Given the description of an element on the screen output the (x, y) to click on. 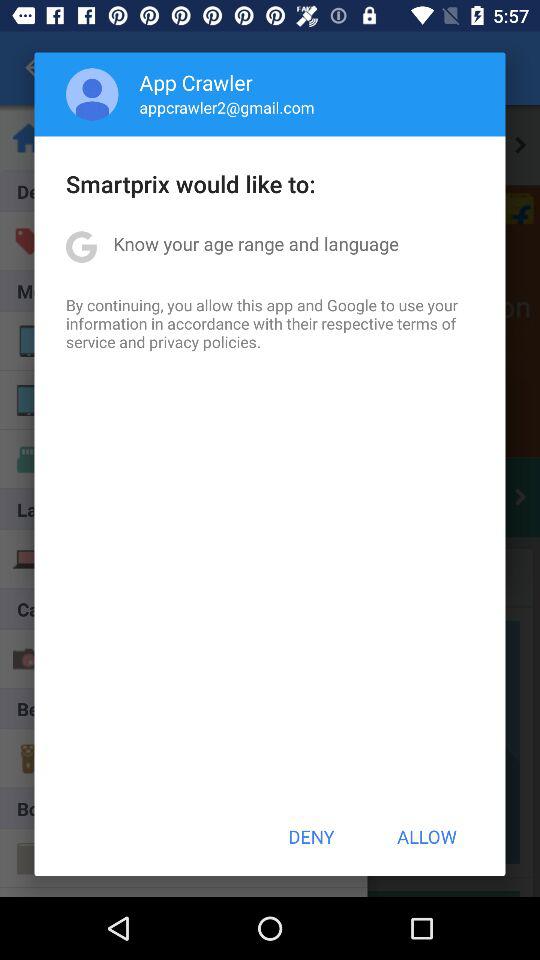
select the item to the left of app crawler (92, 94)
